Given the description of an element on the screen output the (x, y) to click on. 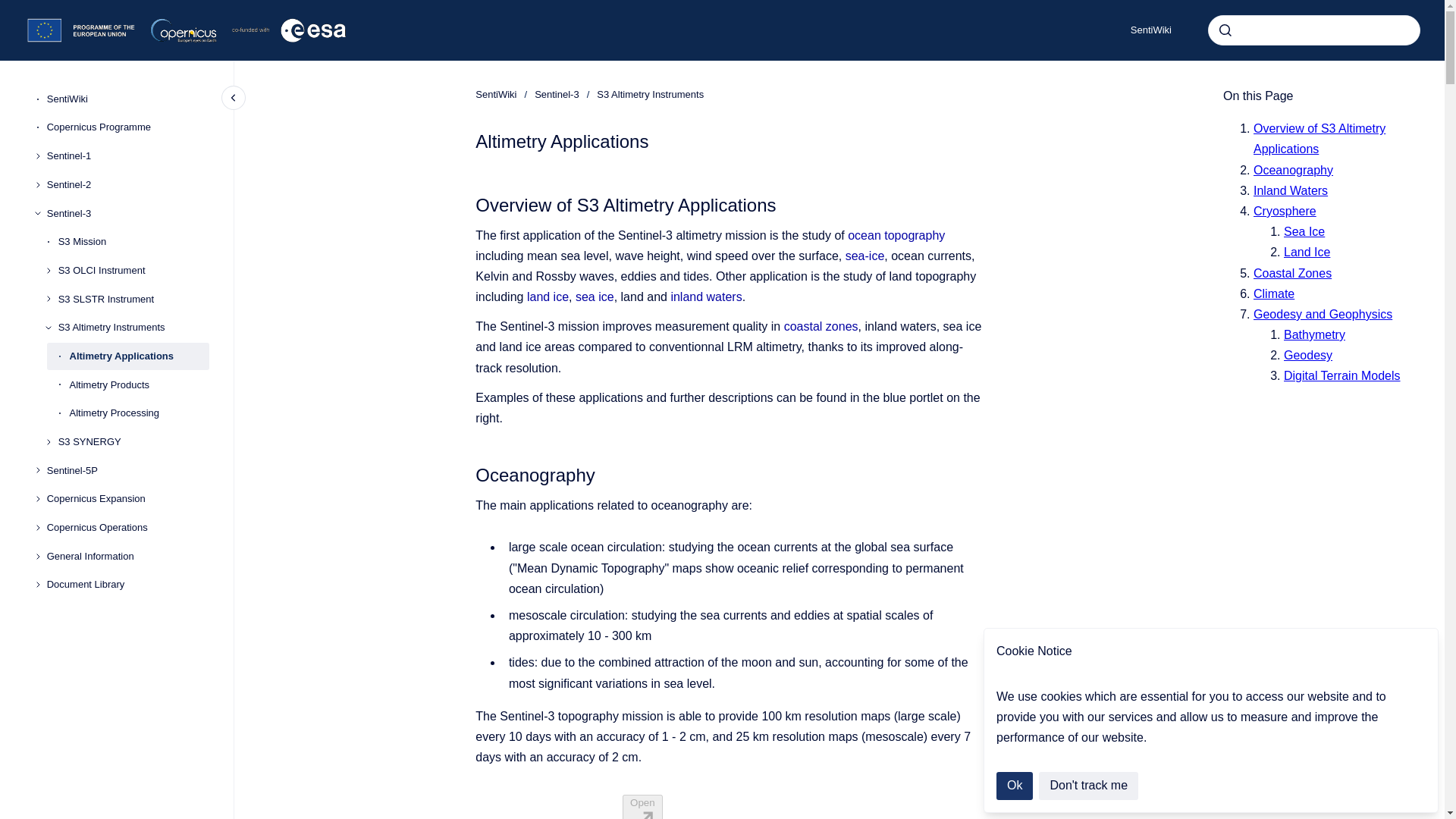
Copernicus Operations (127, 527)
Copernicus Expansion (127, 499)
S3 Mission (133, 241)
General Information (127, 556)
Sentinel-3 (127, 213)
SentiWiki (127, 99)
Sentinel-2 (127, 185)
Don't track me (1088, 786)
Copernicus Programme (127, 127)
Document Library (127, 584)
